Given the description of an element on the screen output the (x, y) to click on. 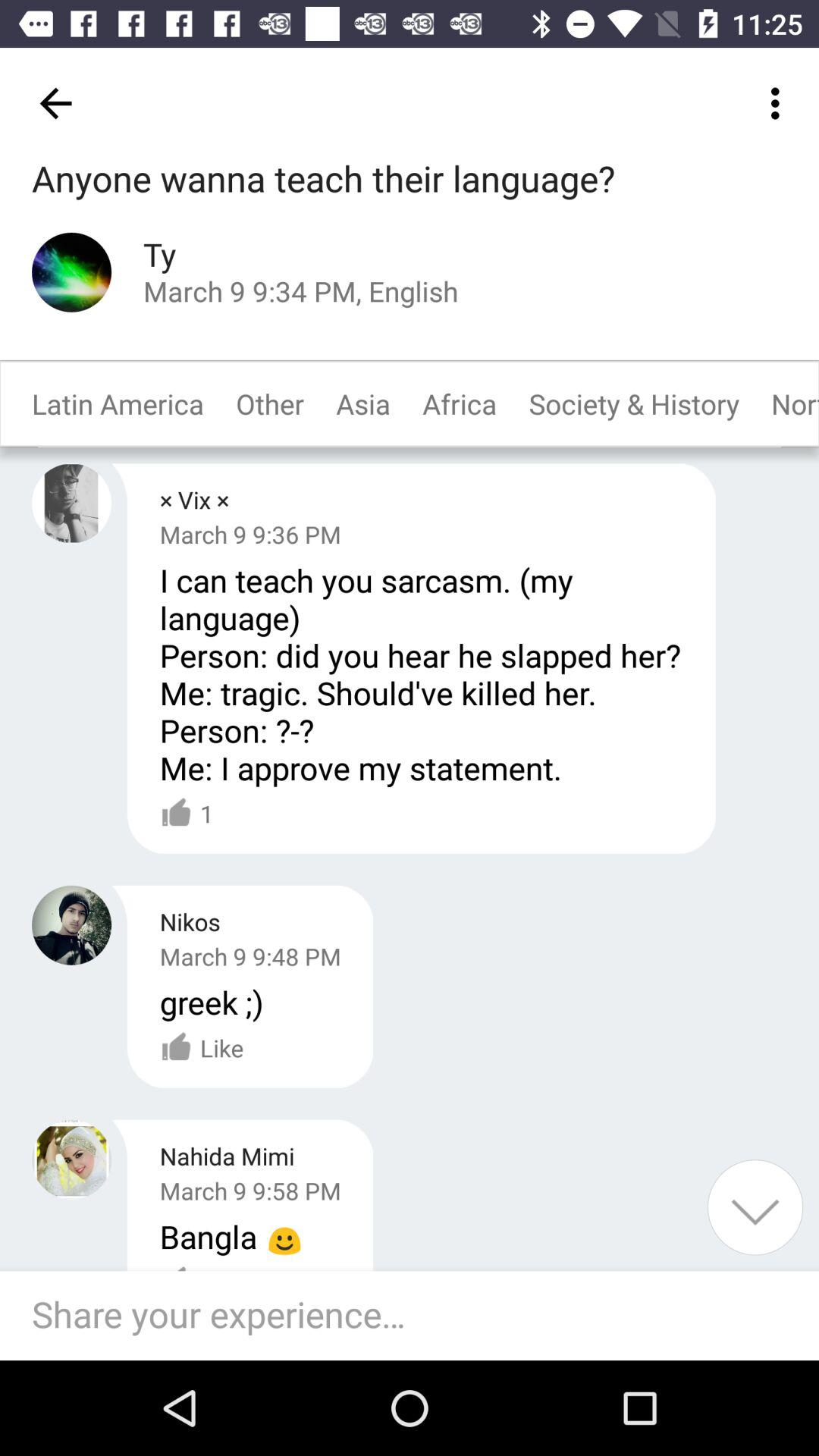
launch the icon above the nahida mimi (211, 1001)
